Given the description of an element on the screen output the (x, y) to click on. 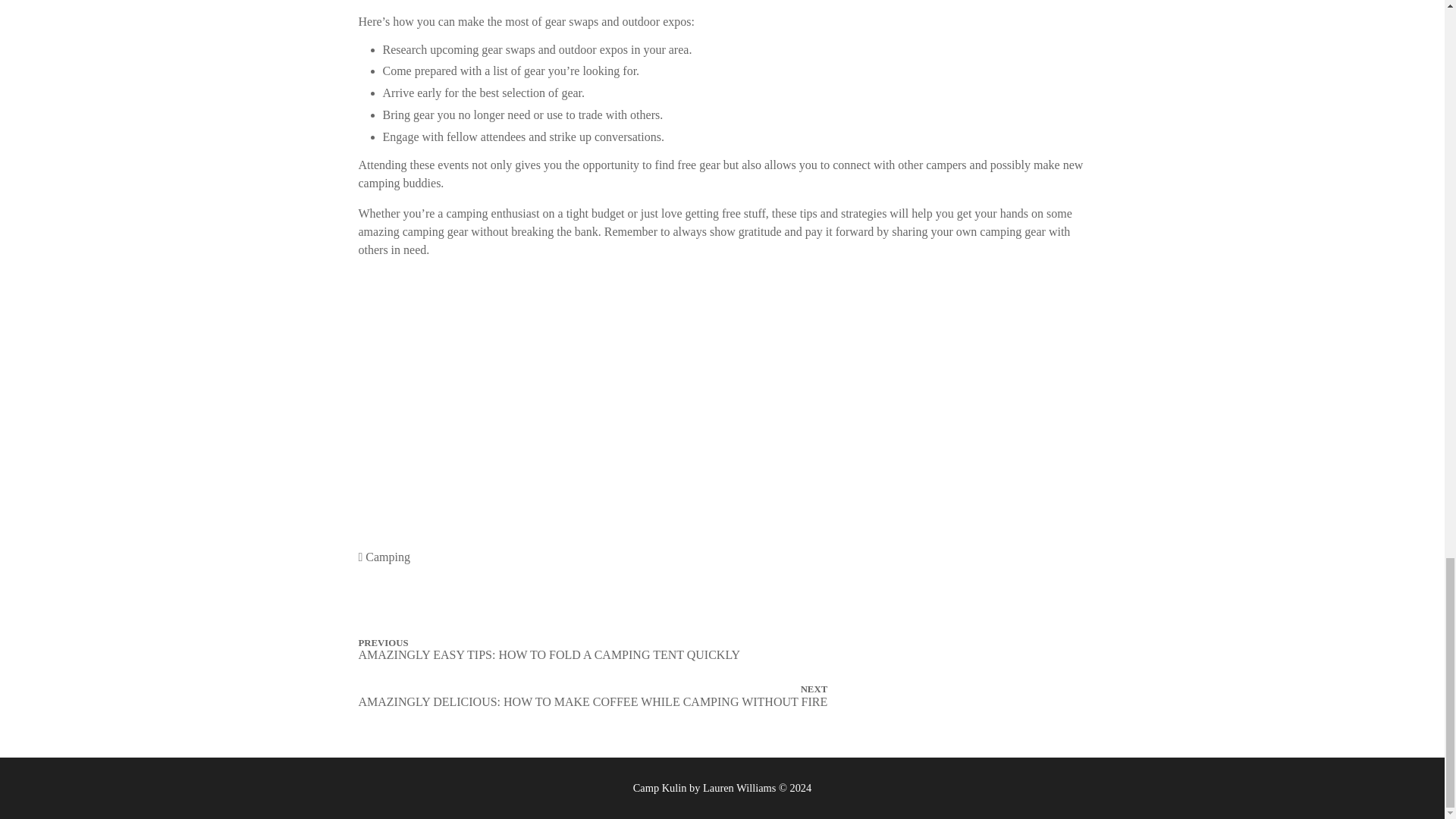
Scroll to the top (1423, 526)
Camping (387, 556)
How to Get AWESOME Backpacking Gear FOR FREE (547, 377)
